Given the description of an element on the screen output the (x, y) to click on. 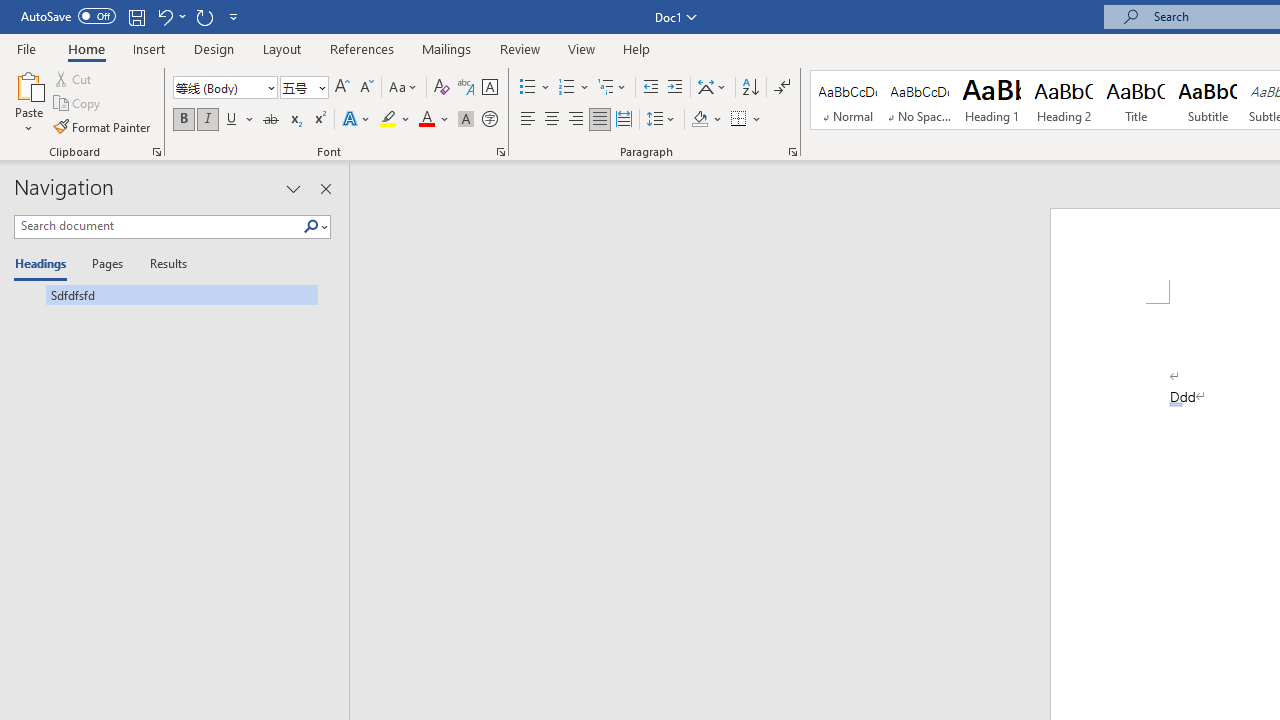
Insert (149, 48)
Class: NetUIImage (311, 226)
Borders (739, 119)
Mailings (447, 48)
Heading 2 (1063, 100)
More Options (757, 119)
Font (224, 87)
Clear Formatting (442, 87)
Undo Apply Quick Style (164, 15)
Pages (105, 264)
Help (637, 48)
Search document (157, 226)
Title (1135, 100)
Multilevel List (613, 87)
Line and Paragraph Spacing (661, 119)
